Given the description of an element on the screen output the (x, y) to click on. 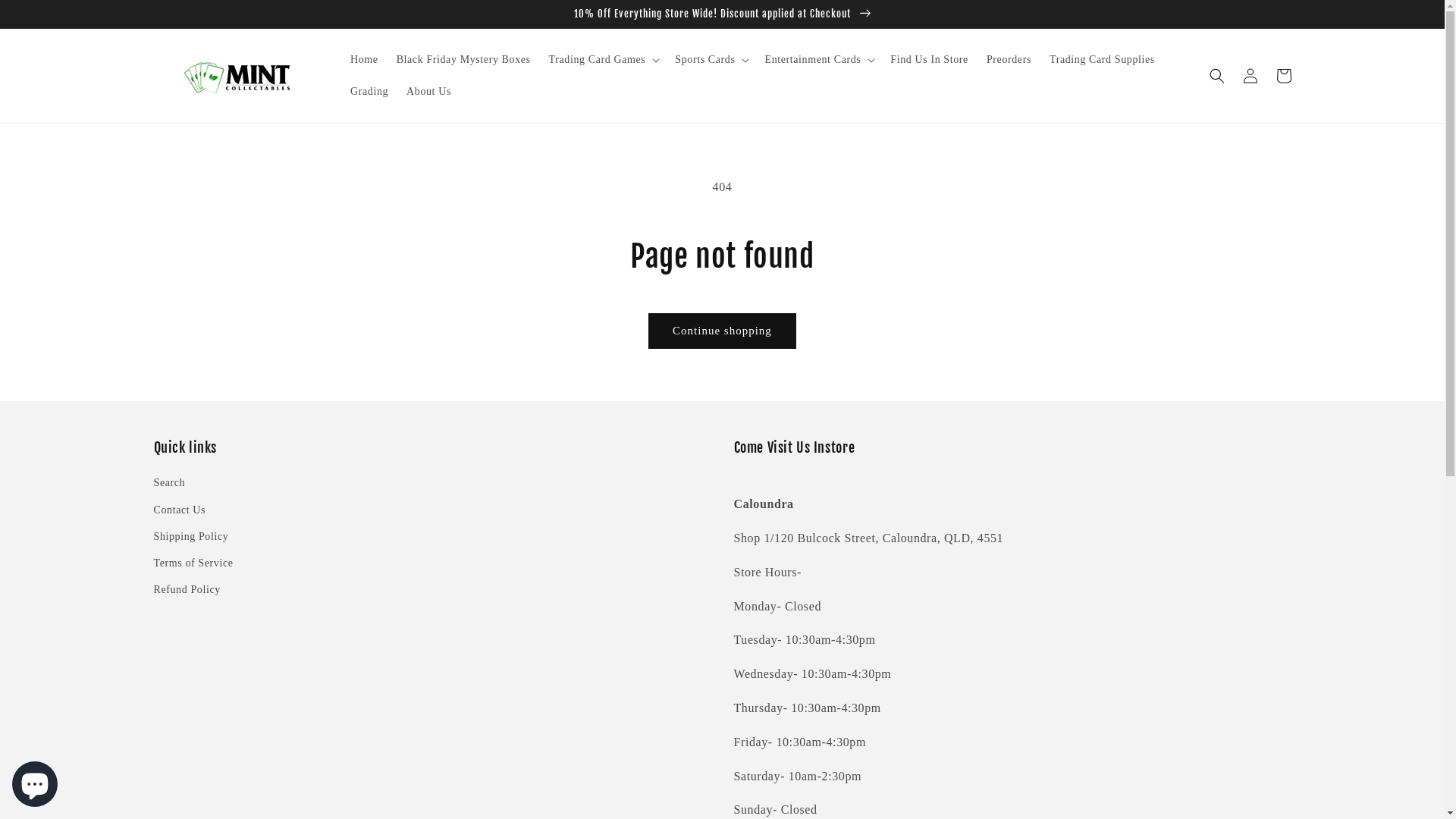
Cart Element type: text (1282, 75)
Trading Card Supplies Element type: text (1102, 59)
Grading Element type: text (369, 91)
Search Element type: text (169, 484)
Shopify online store chat Element type: hover (34, 780)
Refund Policy Element type: text (186, 589)
Contact Us Element type: text (179, 509)
Log in Element type: text (1249, 75)
About Us Element type: text (428, 91)
Terms of Service Element type: text (192, 562)
10% Off Everything Store Wide! Discount applied at Checkout Element type: text (722, 14)
Black Friday Mystery Boxes Element type: text (463, 59)
Preorders Element type: text (1008, 59)
Shipping Policy Element type: text (190, 536)
Home Element type: text (364, 59)
Continue shopping Element type: text (722, 330)
Find Us In Store Element type: text (929, 59)
